Given the description of an element on the screen output the (x, y) to click on. 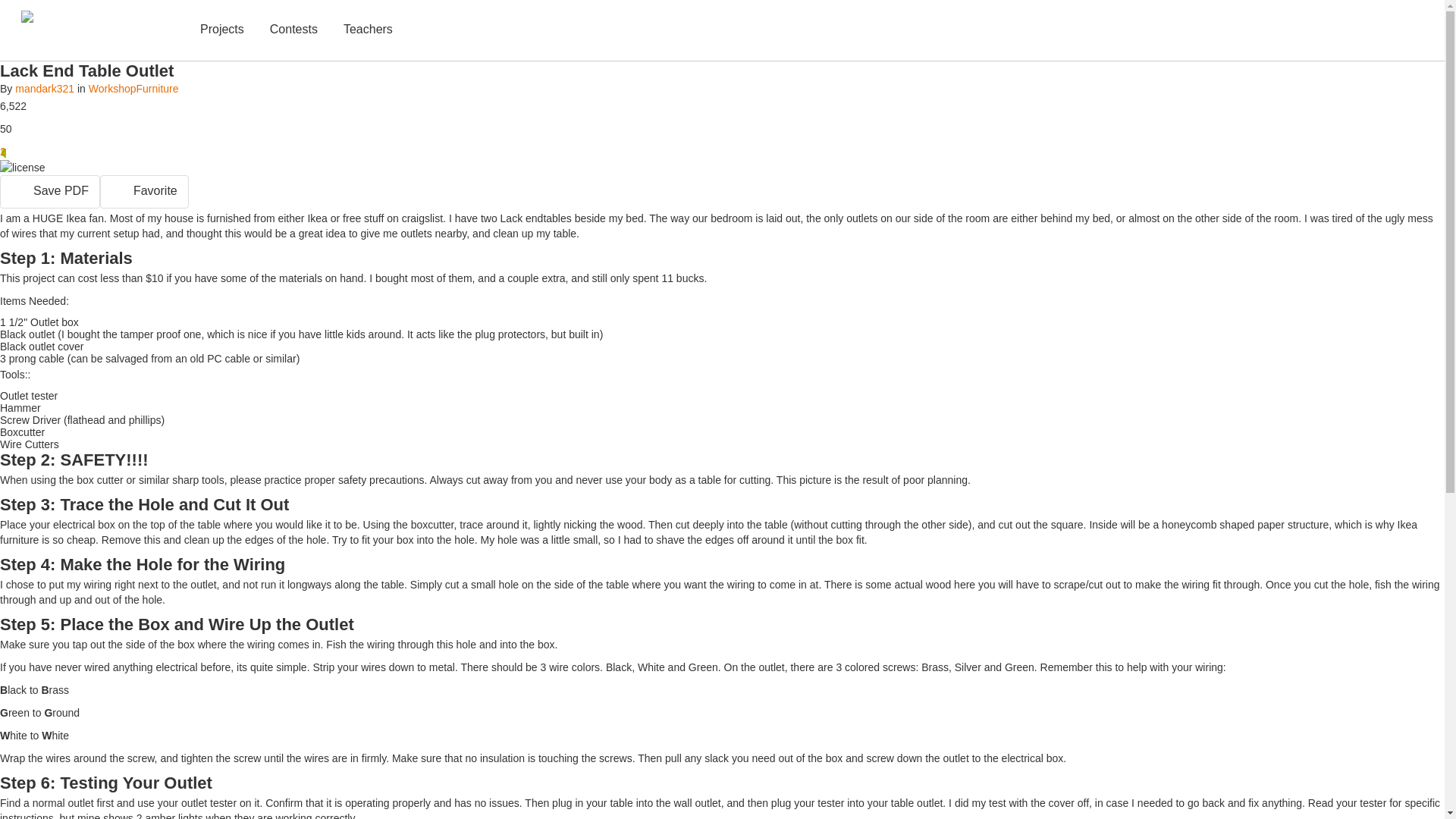
Save PDF (50, 191)
Teachers (368, 30)
Workshop (112, 88)
mandark321 (44, 88)
Furniture (157, 88)
Favorite (144, 191)
Projects (221, 30)
Contests (293, 30)
